Given the description of an element on the screen output the (x, y) to click on. 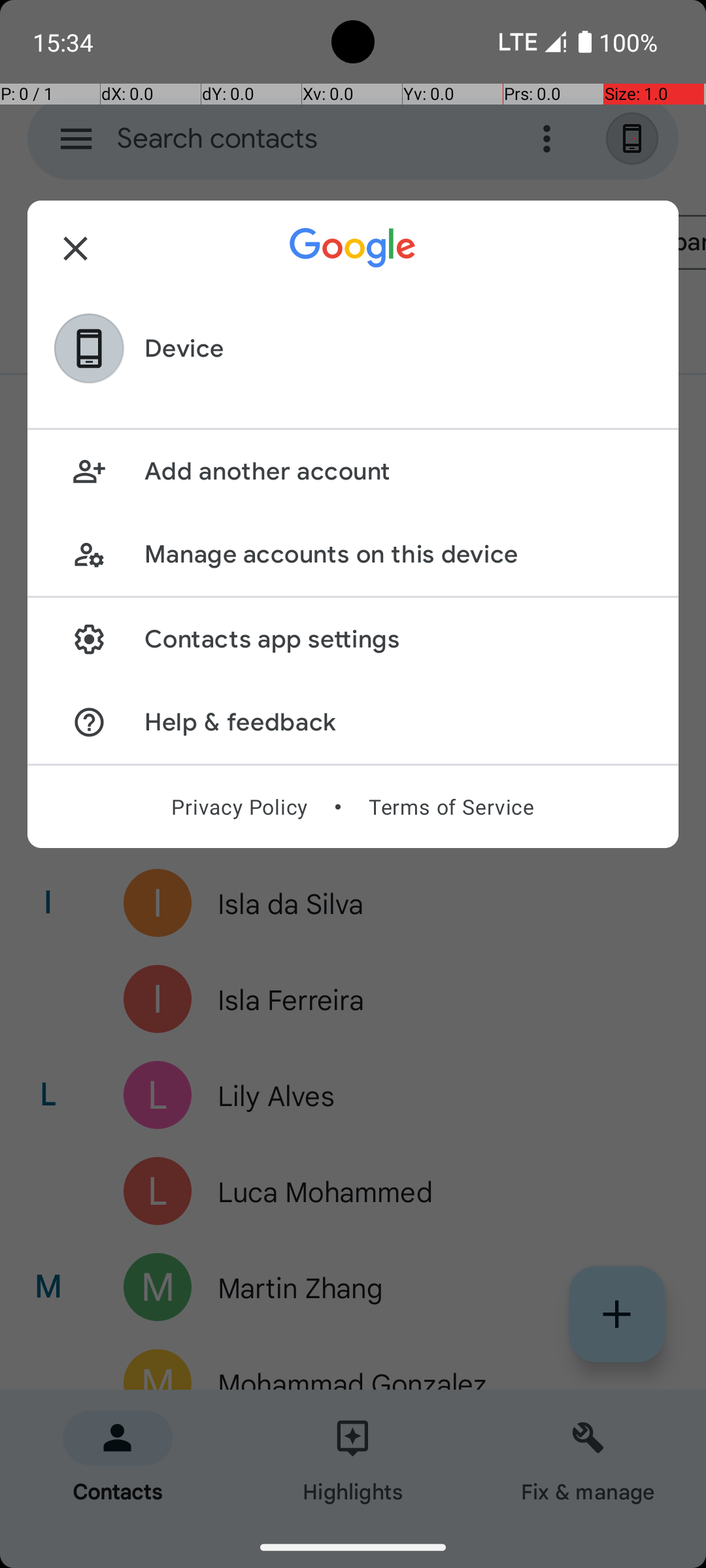
Privacy Policy Element type: android.widget.Button (239, 806)
Terms of Service Element type: android.widget.Button (450, 806)
Add another account Element type: android.widget.TextView (397, 471)
Manage accounts on this device Element type: android.widget.TextView (397, 554)
Contacts app settings Element type: android.widget.TextView (397, 638)
